Given the description of an element on the screen output the (x, y) to click on. 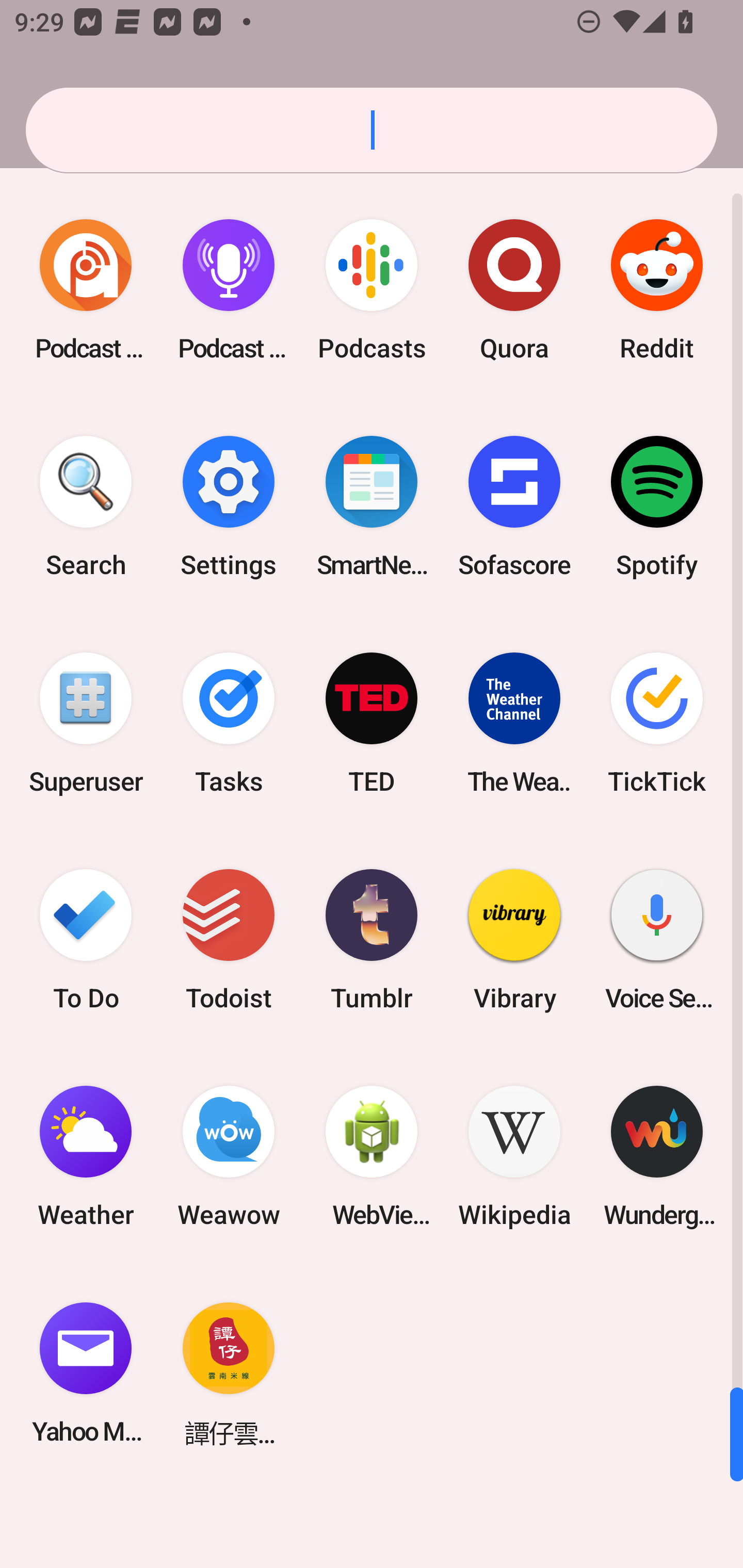
  Search apps (371, 130)
Podcast Addict (85, 289)
Podcast Player (228, 289)
Podcasts (371, 289)
Quora (514, 289)
Reddit (656, 289)
Search (85, 506)
Settings (228, 506)
SmartNews (371, 506)
Sofascore (514, 506)
Spotify (656, 506)
Superuser (85, 722)
Tasks (228, 722)
TED (371, 722)
The Weather Channel (514, 722)
TickTick (656, 722)
To Do (85, 939)
Todoist (228, 939)
Tumblr (371, 939)
Vibrary (514, 939)
Voice Search (656, 939)
Weather (85, 1156)
Weawow (228, 1156)
WebView Browser Tester (371, 1156)
Wikipedia (514, 1156)
Wunderground (656, 1156)
Yahoo Mail (85, 1373)
譚仔雲南米線 (228, 1373)
